Given the description of an element on the screen output the (x, y) to click on. 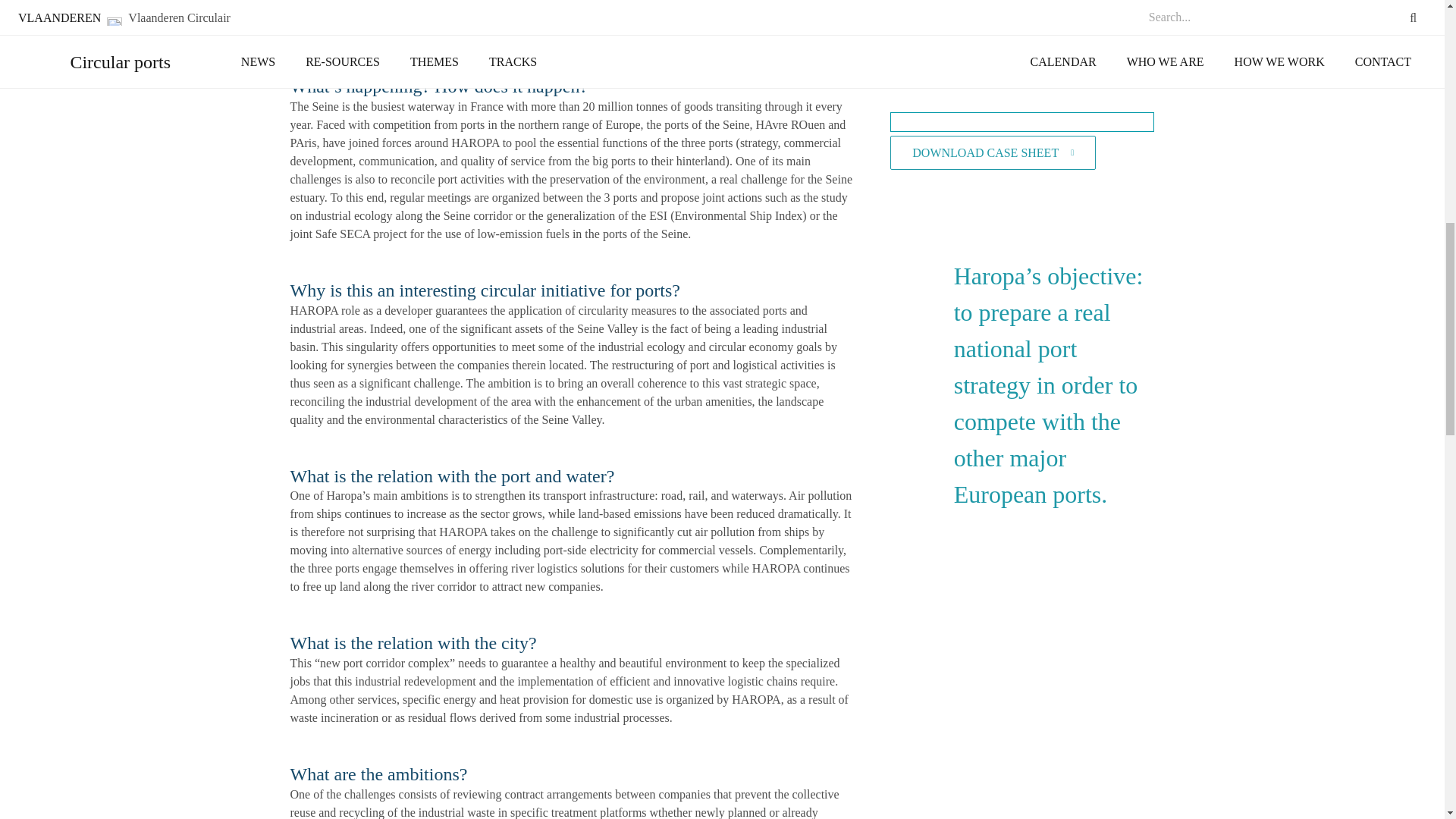
DOWNLOAD CASE SHEET (992, 152)
